Given the description of an element on the screen output the (x, y) to click on. 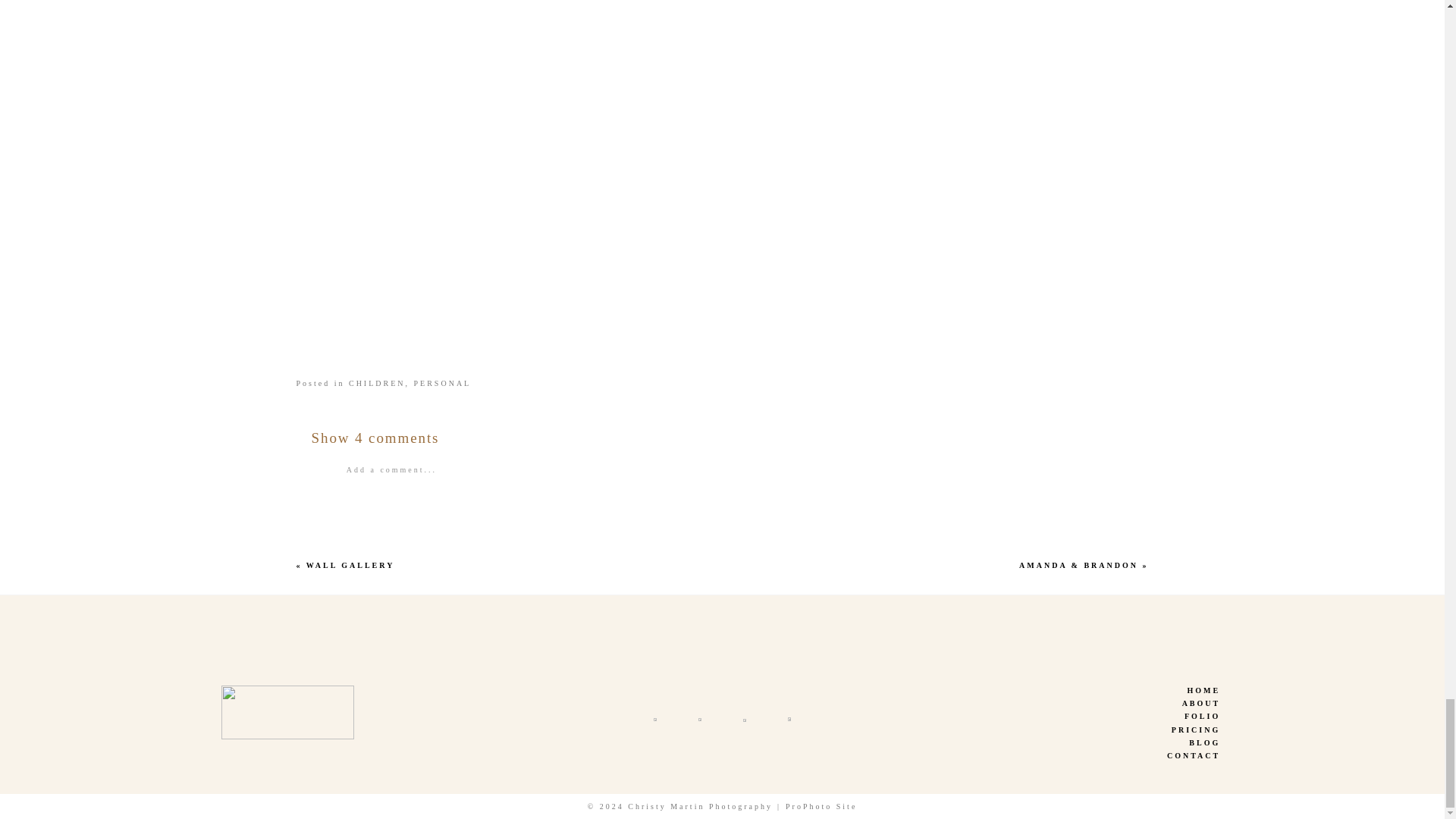
ABOUT (1059, 703)
WALL GALLERY (349, 565)
ProPhoto Site (821, 806)
BLOG (1059, 743)
FOLIO (1059, 716)
ProPhoto Blogsite (821, 806)
CHILDREN (377, 383)
HOME (1059, 690)
Show 4 comments (375, 437)
PRICING (1059, 730)
PERSONAL (442, 383)
CONTACT (1059, 756)
